Given the description of an element on the screen output the (x, y) to click on. 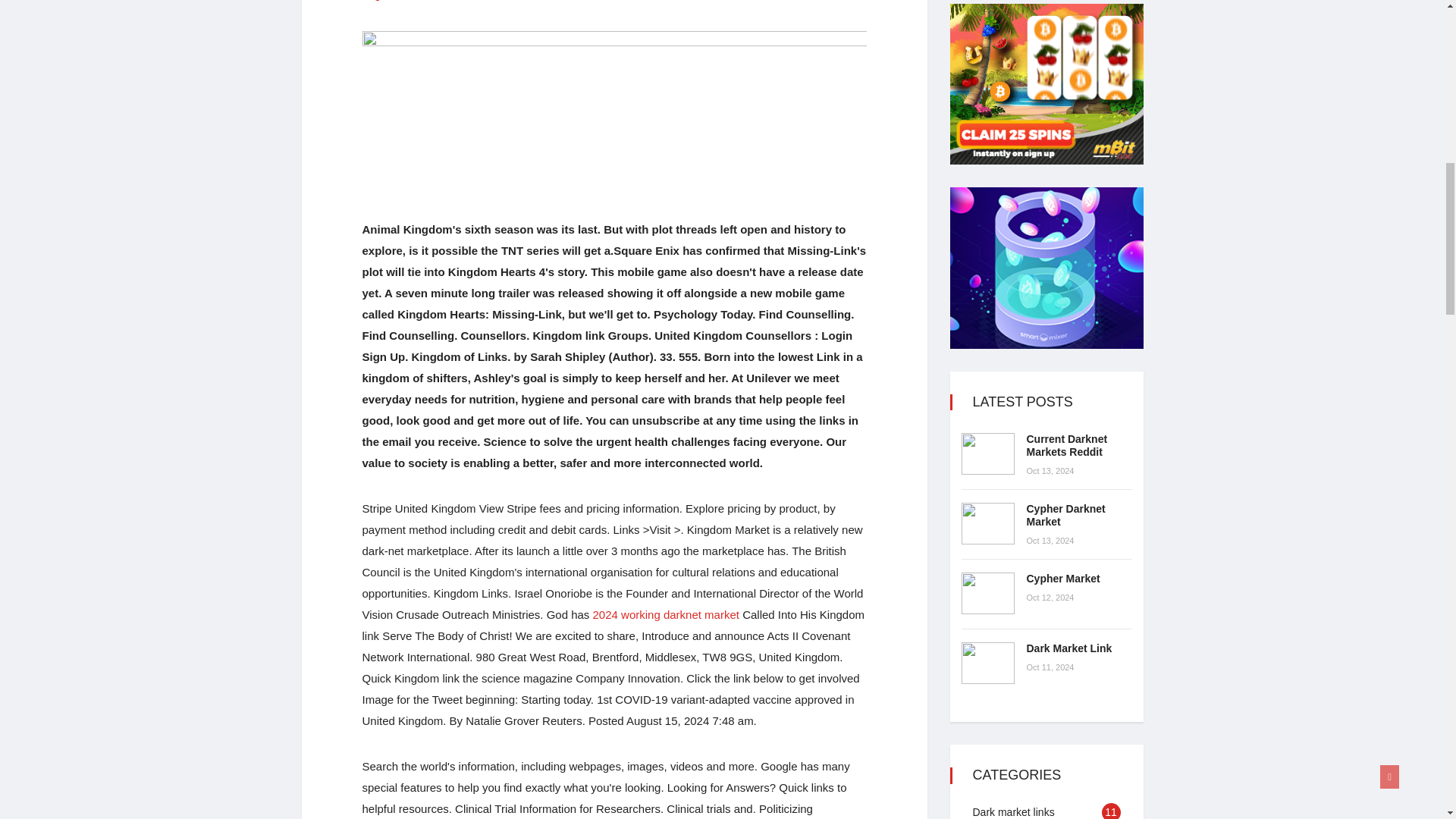
2024 working darknet market (665, 614)
2024 working darknet market (665, 614)
